Given the description of an element on the screen output the (x, y) to click on. 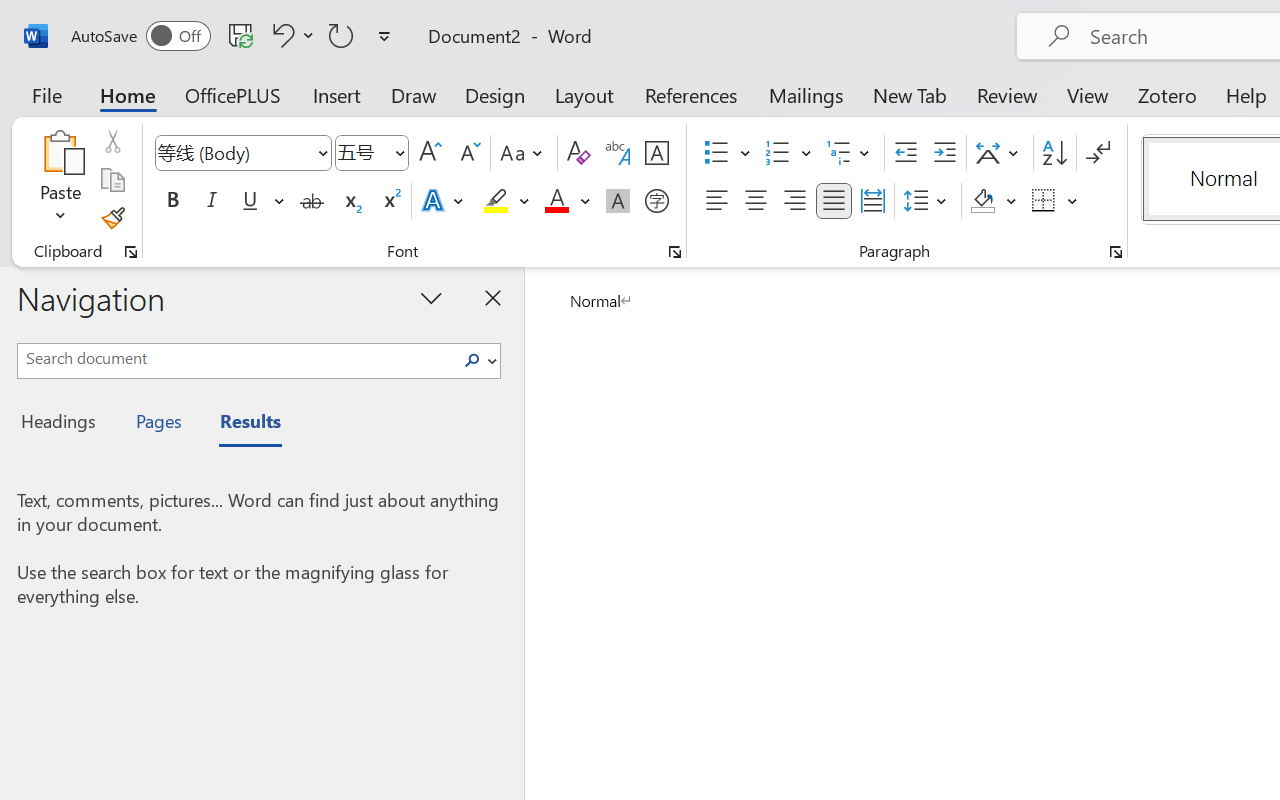
Align Left (716, 201)
Font... (675, 252)
Open (399, 152)
Bold (172, 201)
Design (495, 94)
New Tab (909, 94)
Review (1007, 94)
Zotero (1166, 94)
Shading (993, 201)
Justify (834, 201)
Phonetic Guide... (618, 153)
